Given the description of an element on the screen output the (x, y) to click on. 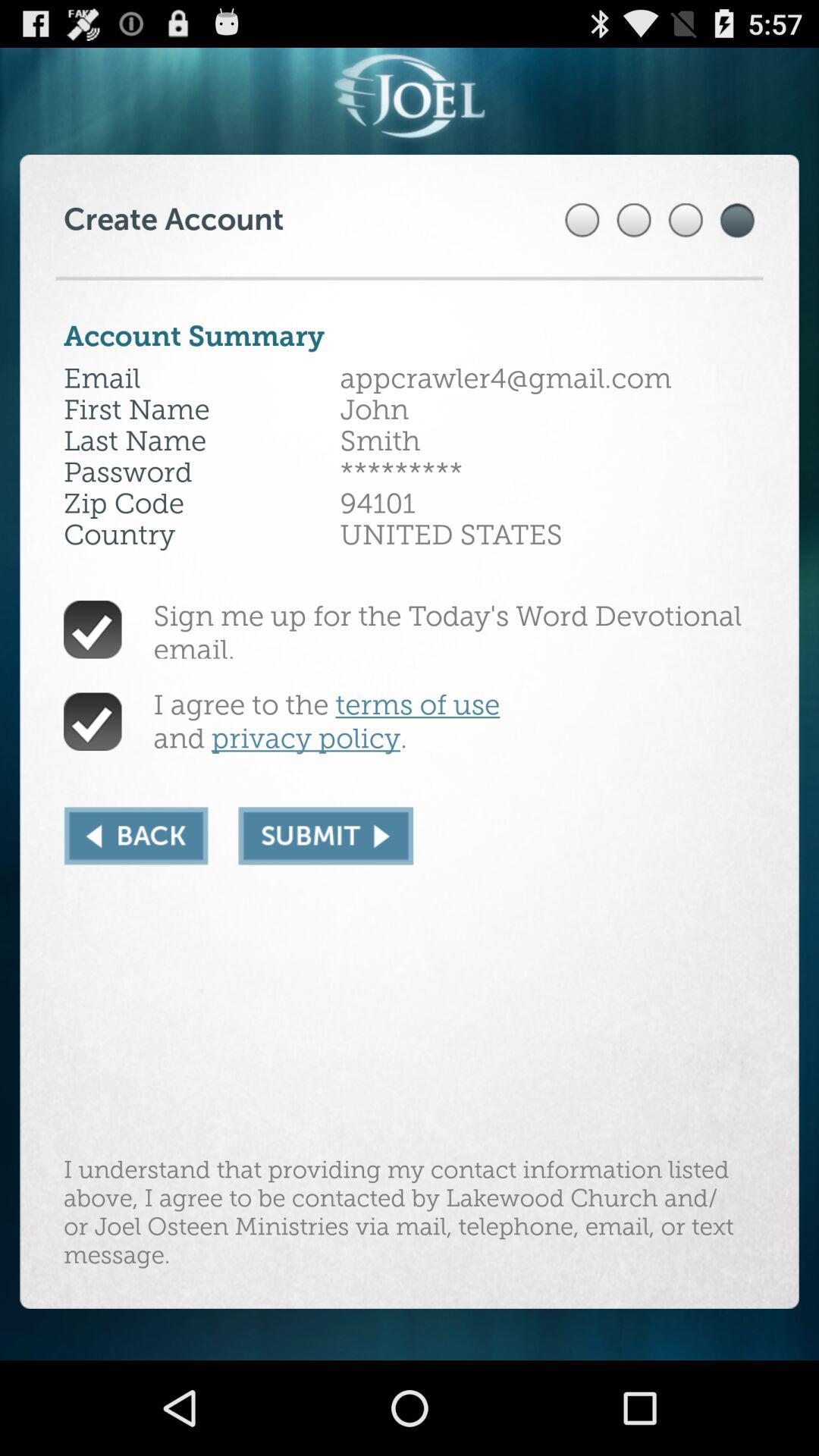
verify agreement terms (92, 721)
